Given the description of an element on the screen output the (x, y) to click on. 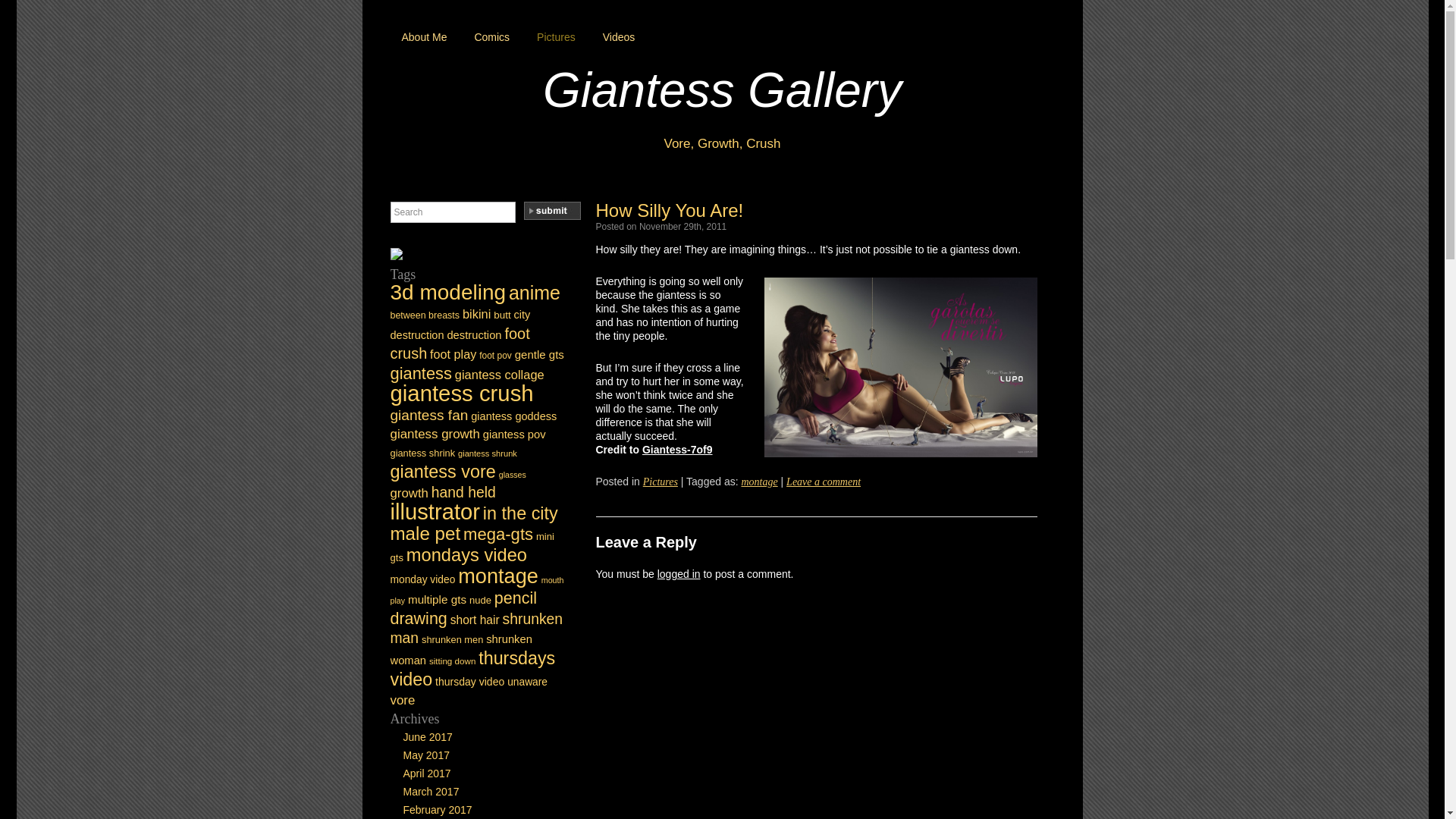
glasses (512, 474)
logged in (679, 573)
giantess goddess (513, 416)
destruction (473, 335)
foot crush (459, 343)
giantess collage (499, 374)
illustrator (434, 511)
giantess crush (461, 392)
giantess shrunk (487, 452)
Giantess-7of9 (677, 449)
between breasts (425, 315)
giantess (420, 373)
giantess vore (442, 471)
3d modeling (447, 291)
Permalink to How Silly You Are! (669, 209)
